Given the description of an element on the screen output the (x, y) to click on. 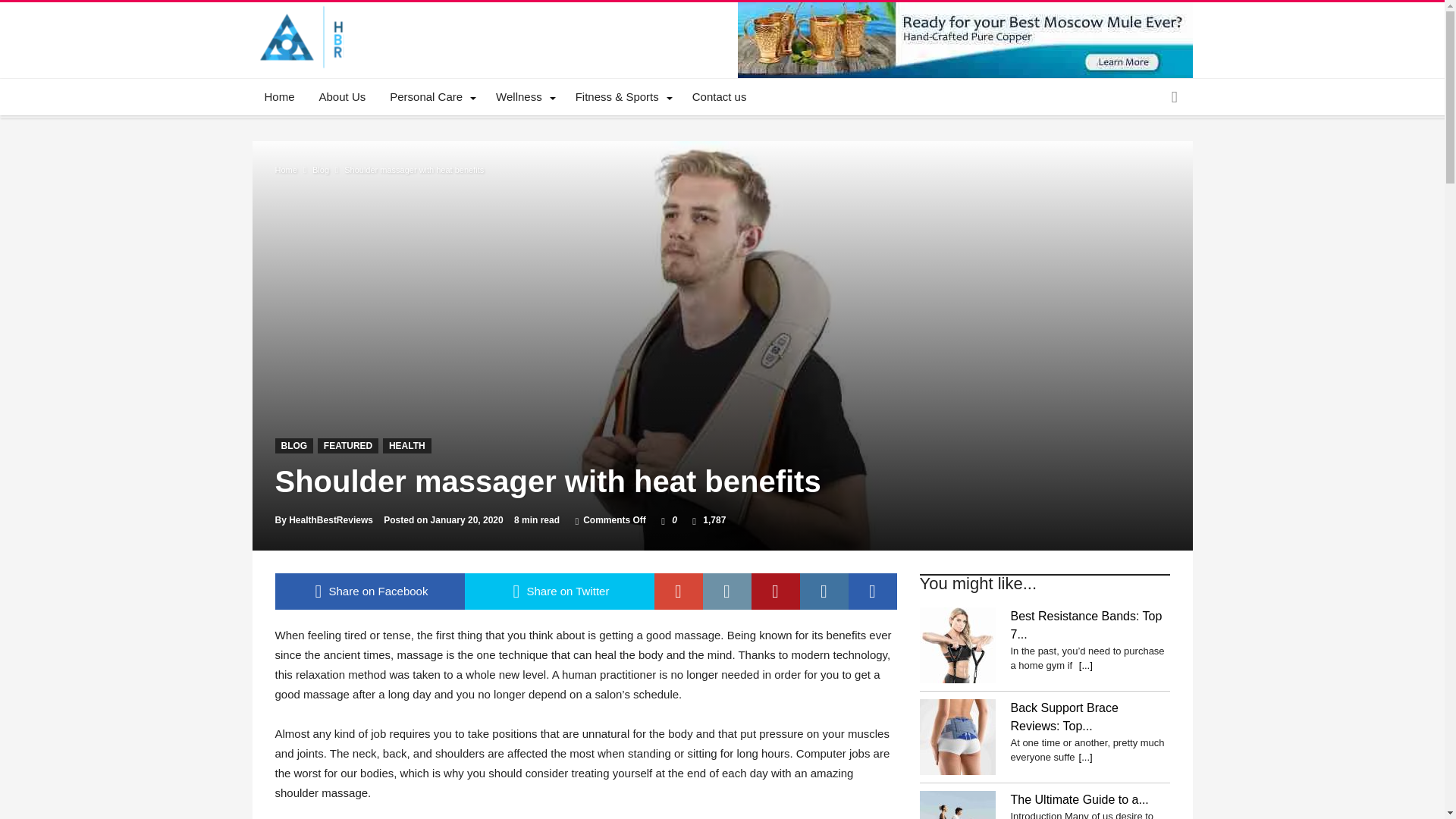
Home (278, 96)
About Us (342, 96)
Personal Care (430, 96)
ad banner (964, 39)
Home (278, 96)
Personal Care (430, 96)
About Us (342, 96)
